Given the description of an element on the screen output the (x, y) to click on. 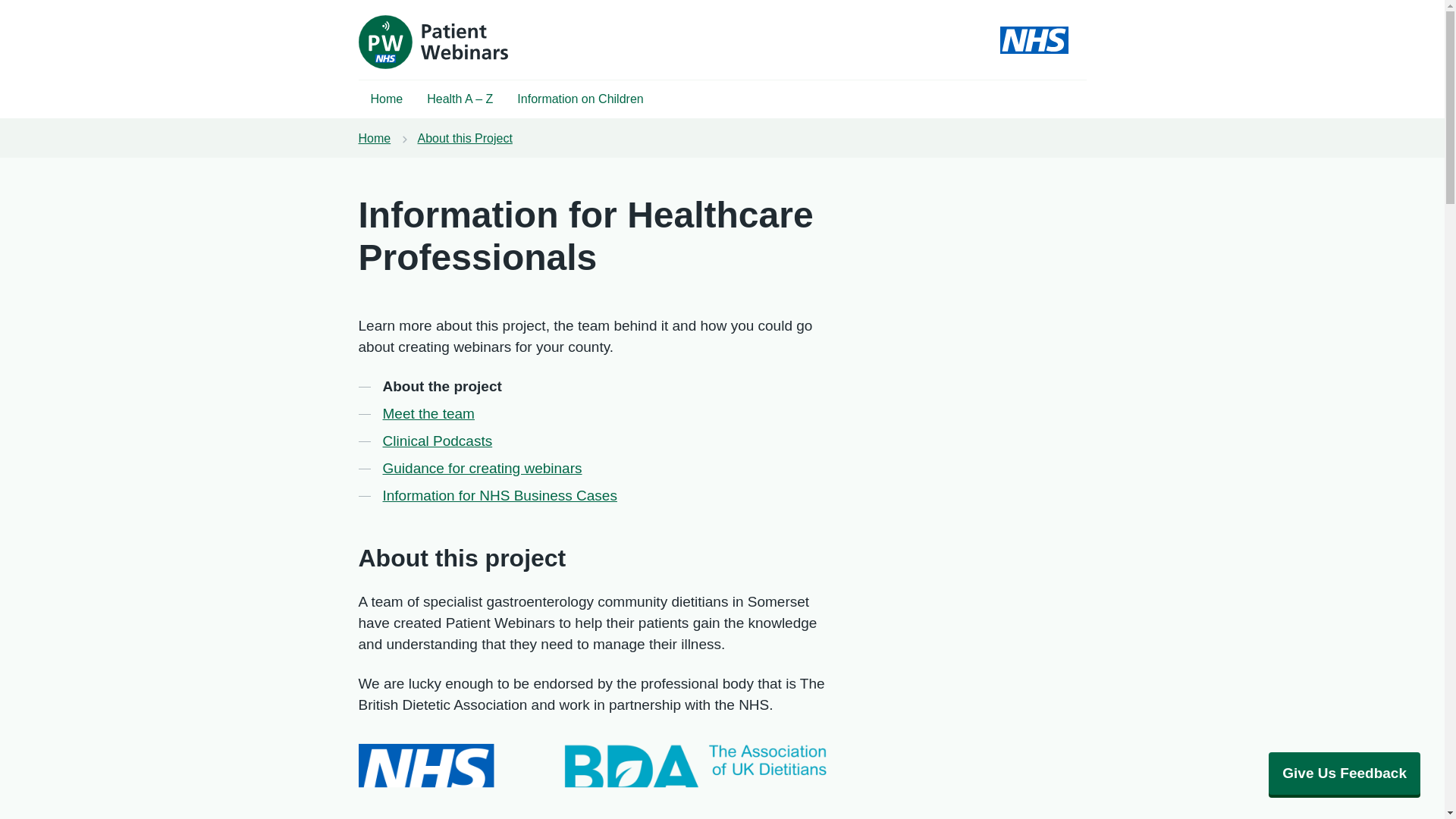
Guidance for creating webinars (480, 468)
Home (374, 137)
Home (386, 98)
Meet the team (427, 414)
Clinical Podcasts (436, 441)
About this Project (464, 137)
Information on Children (580, 98)
Information for NHS Business Cases (498, 495)
